Given the description of an element on the screen output the (x, y) to click on. 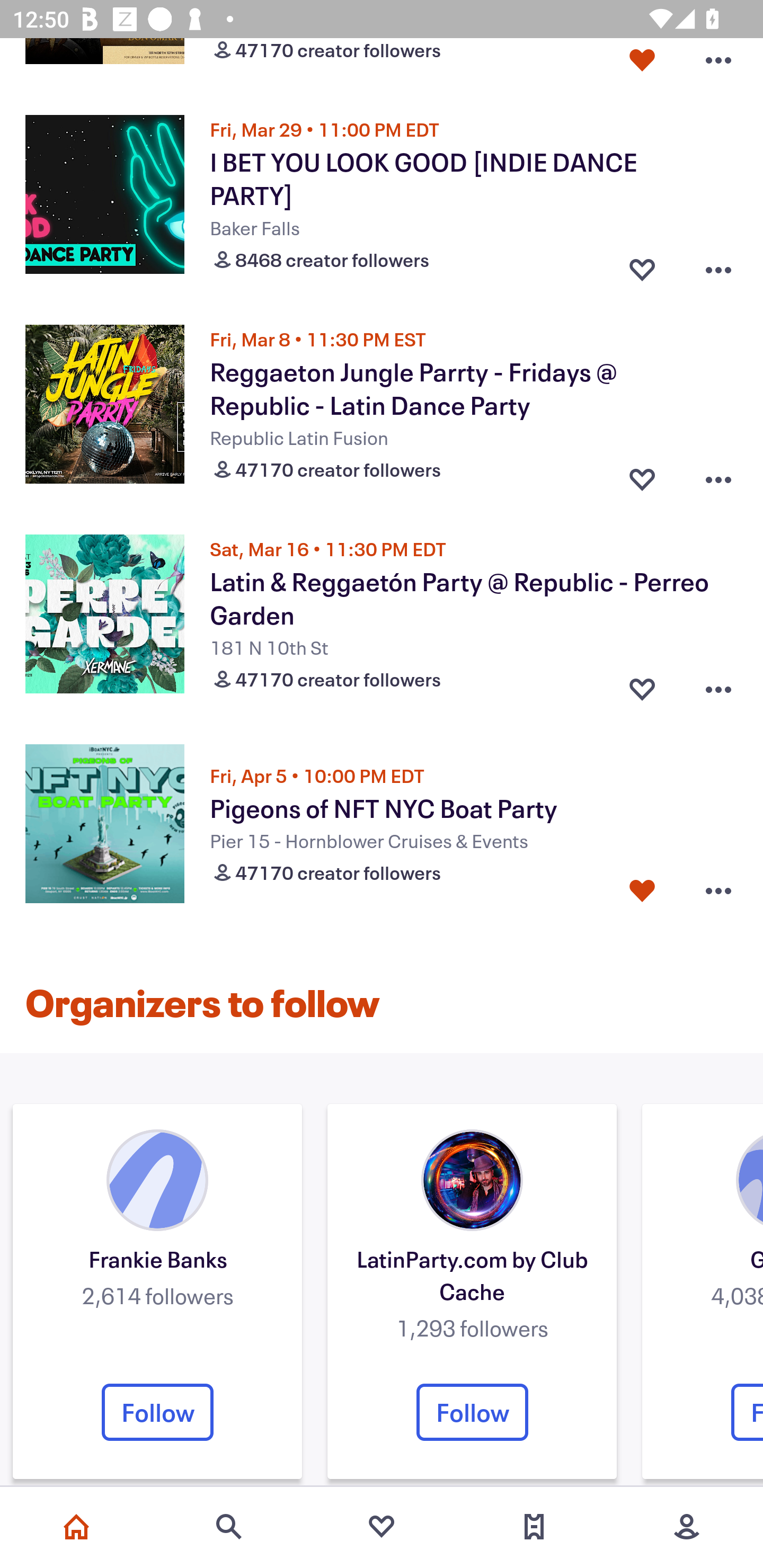
Favorite button (642, 63)
Overflow menu button (718, 63)
Favorite button (642, 265)
Overflow menu button (718, 265)
Favorite button (642, 475)
Overflow menu button (718, 475)
Favorite button (642, 685)
Overflow menu button (718, 685)
Favorite button (642, 890)
Overflow menu button (718, 890)
Follow Organizer's follow button (157, 1411)
Follow Organizer's follow button (471, 1411)
Home (76, 1526)
Search events (228, 1526)
Favorites (381, 1526)
Tickets (533, 1526)
More (686, 1526)
